Given the description of an element on the screen output the (x, y) to click on. 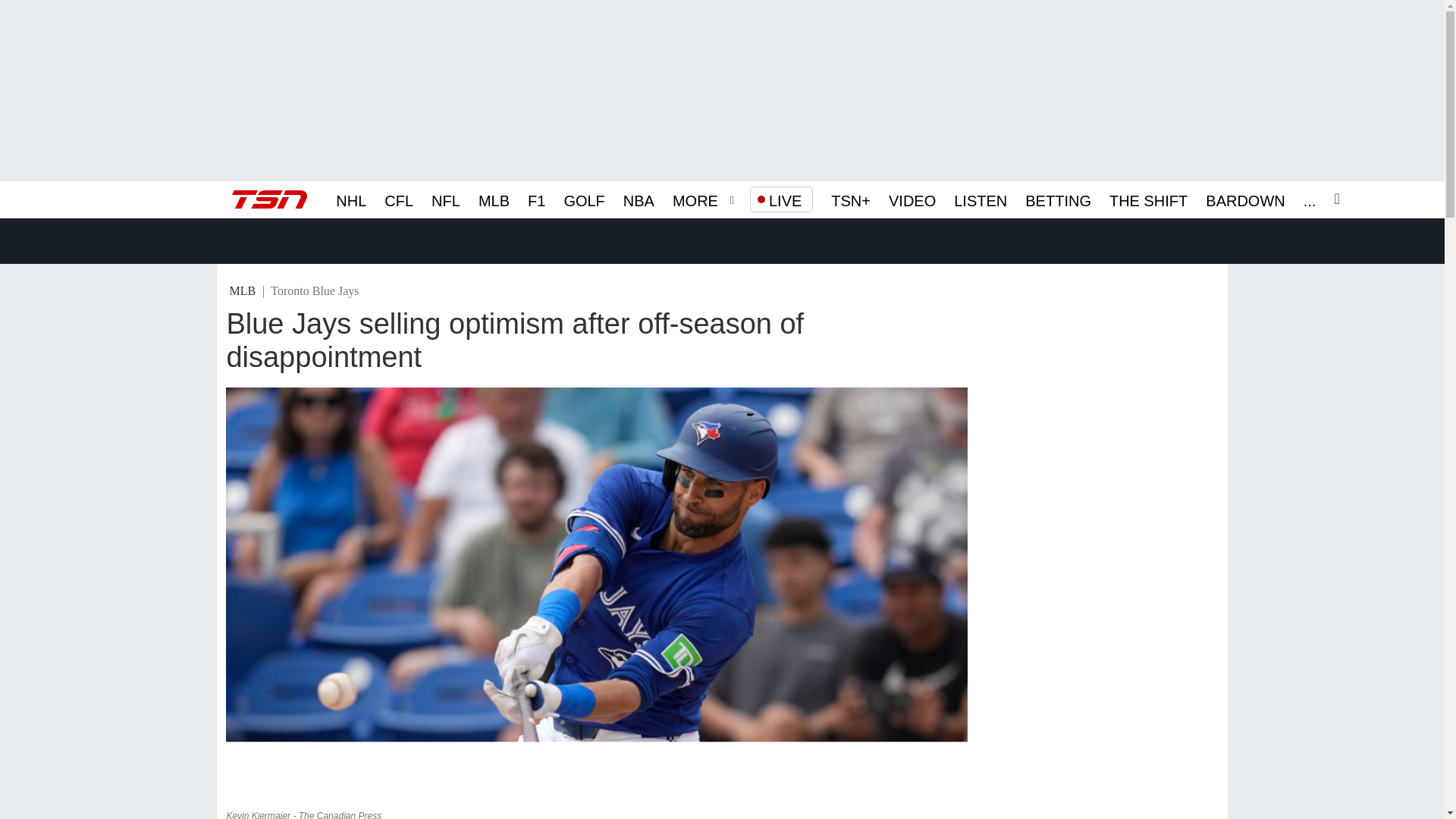
TSN (269, 199)
NBA (638, 199)
NHL (351, 199)
MORE (694, 199)
GOLF (583, 199)
MLB (494, 199)
CFL (398, 199)
NFL (445, 199)
